Given the description of an element on the screen output the (x, y) to click on. 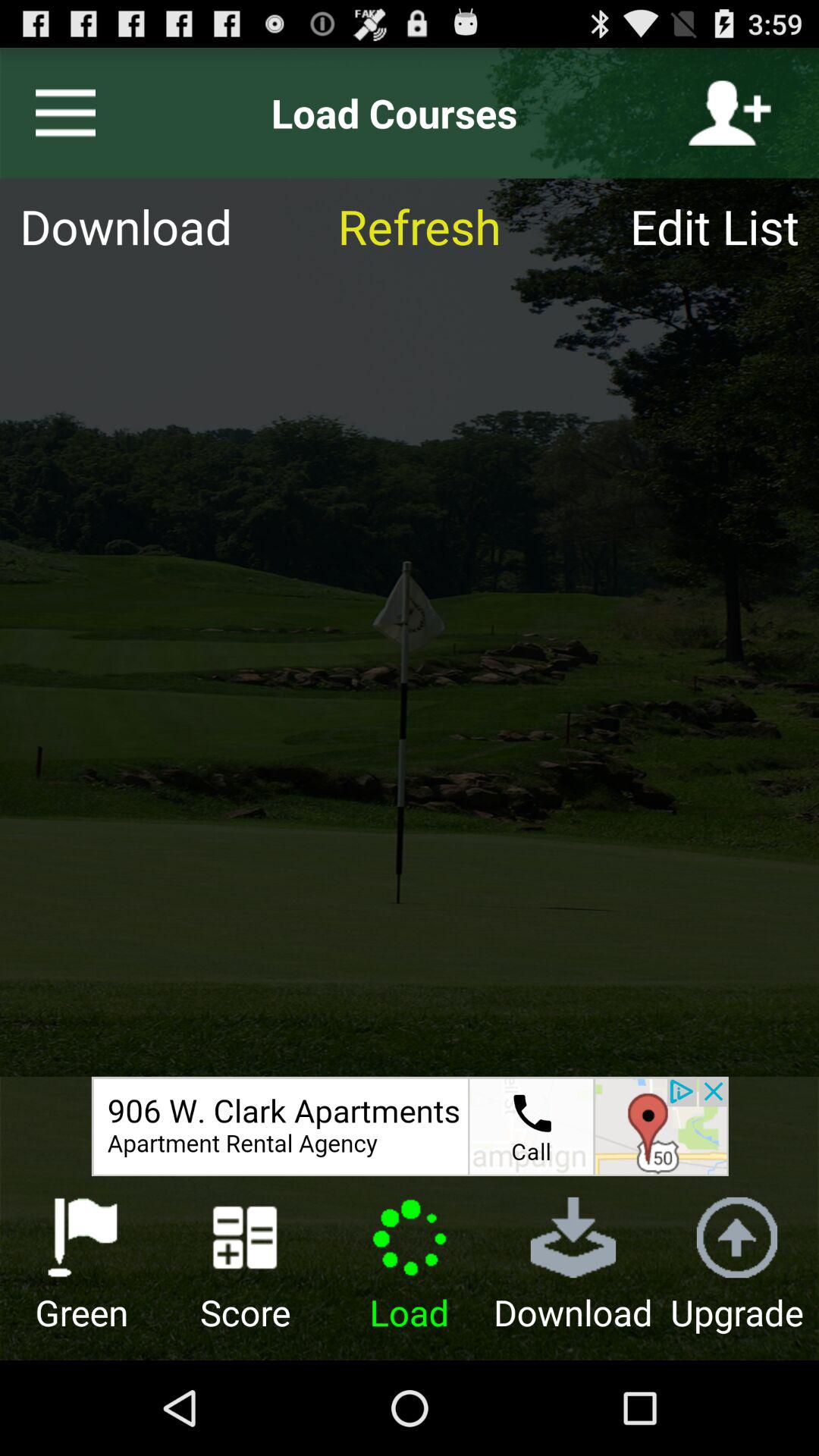
go to advertisement (409, 1126)
